Given the description of an element on the screen output the (x, y) to click on. 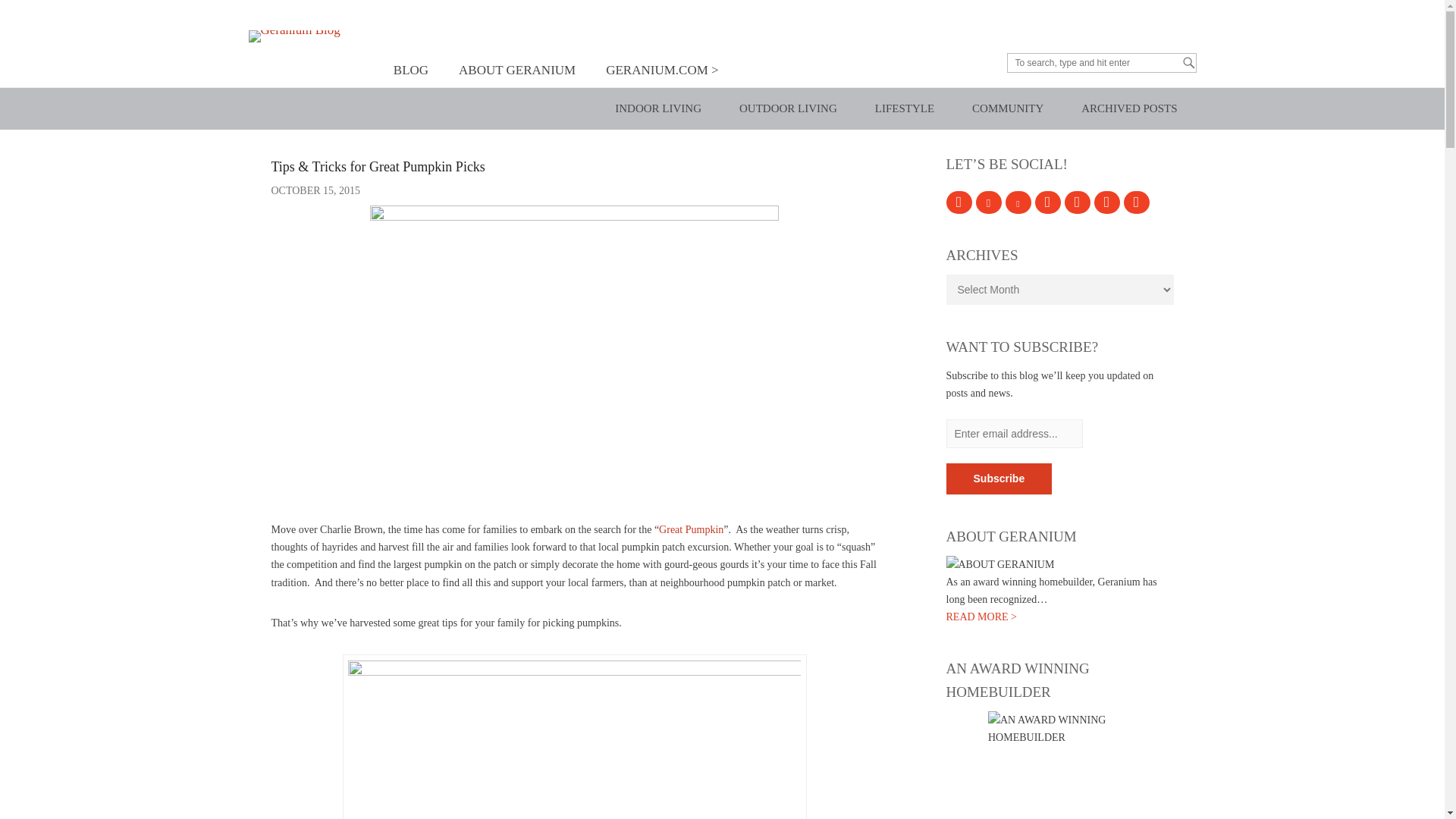
Skip to content (417, 63)
Enter email address... (1014, 433)
Subscribe (999, 478)
ABOUT GERANIUM (517, 70)
BLOG (411, 70)
Search (45, 15)
Geranium Blog (405, 39)
Geranium Blog (405, 39)
Skip to content (417, 63)
